Given the description of an element on the screen output the (x, y) to click on. 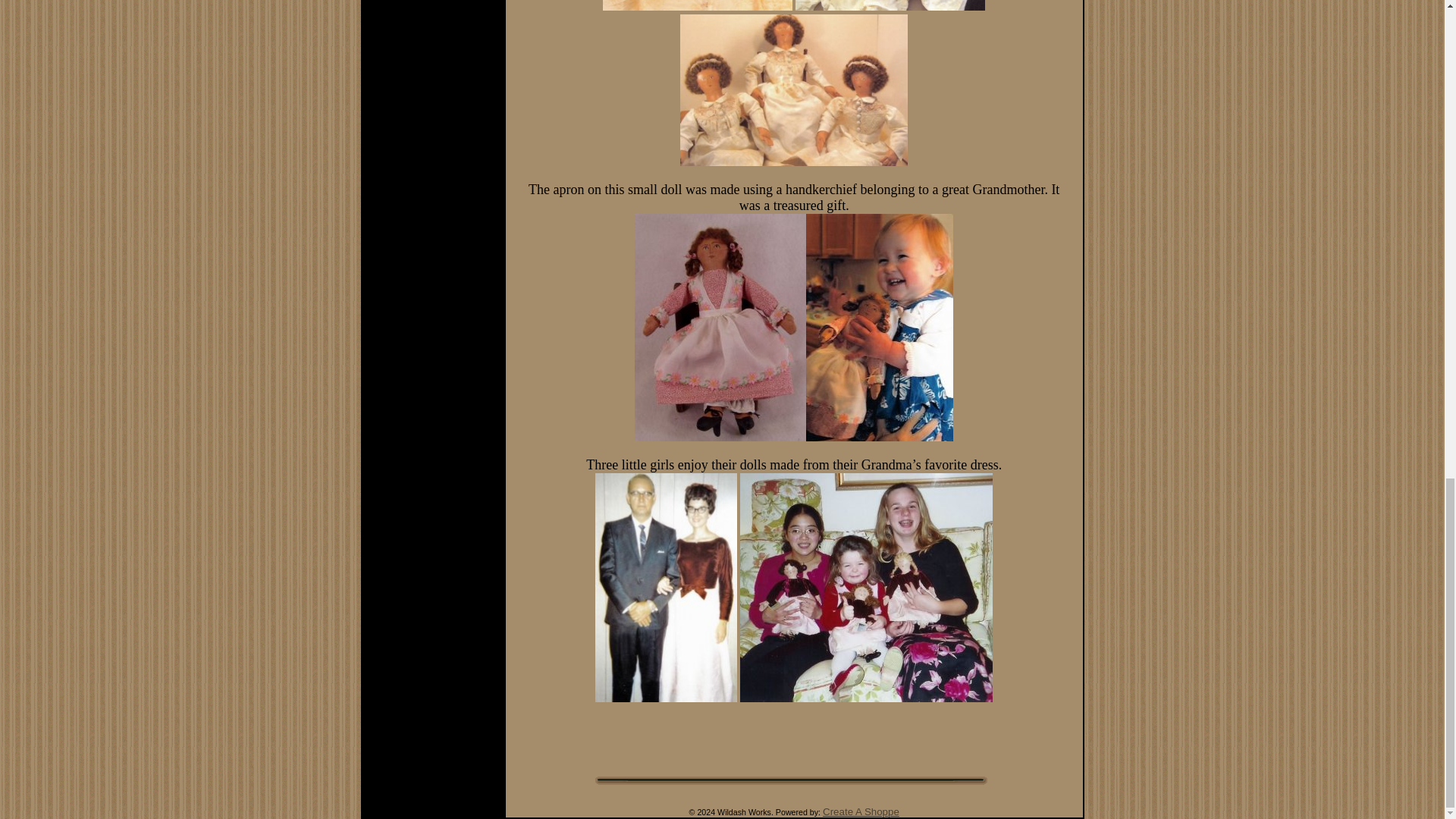
Create A Shoppe (860, 811)
